Given the description of an element on the screen output the (x, y) to click on. 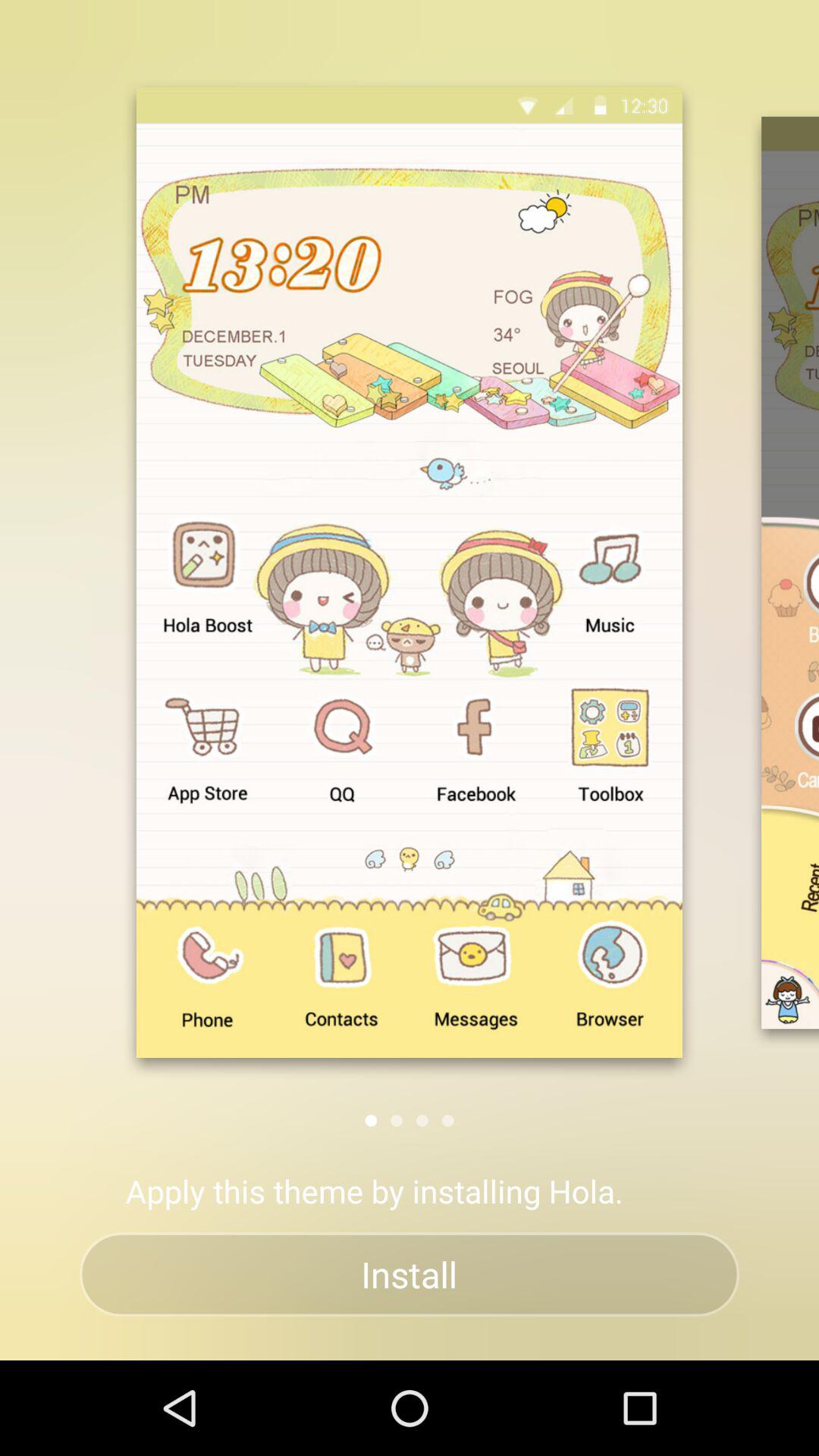
tap the app above the apply this theme app (396, 1120)
